Given the description of an element on the screen output the (x, y) to click on. 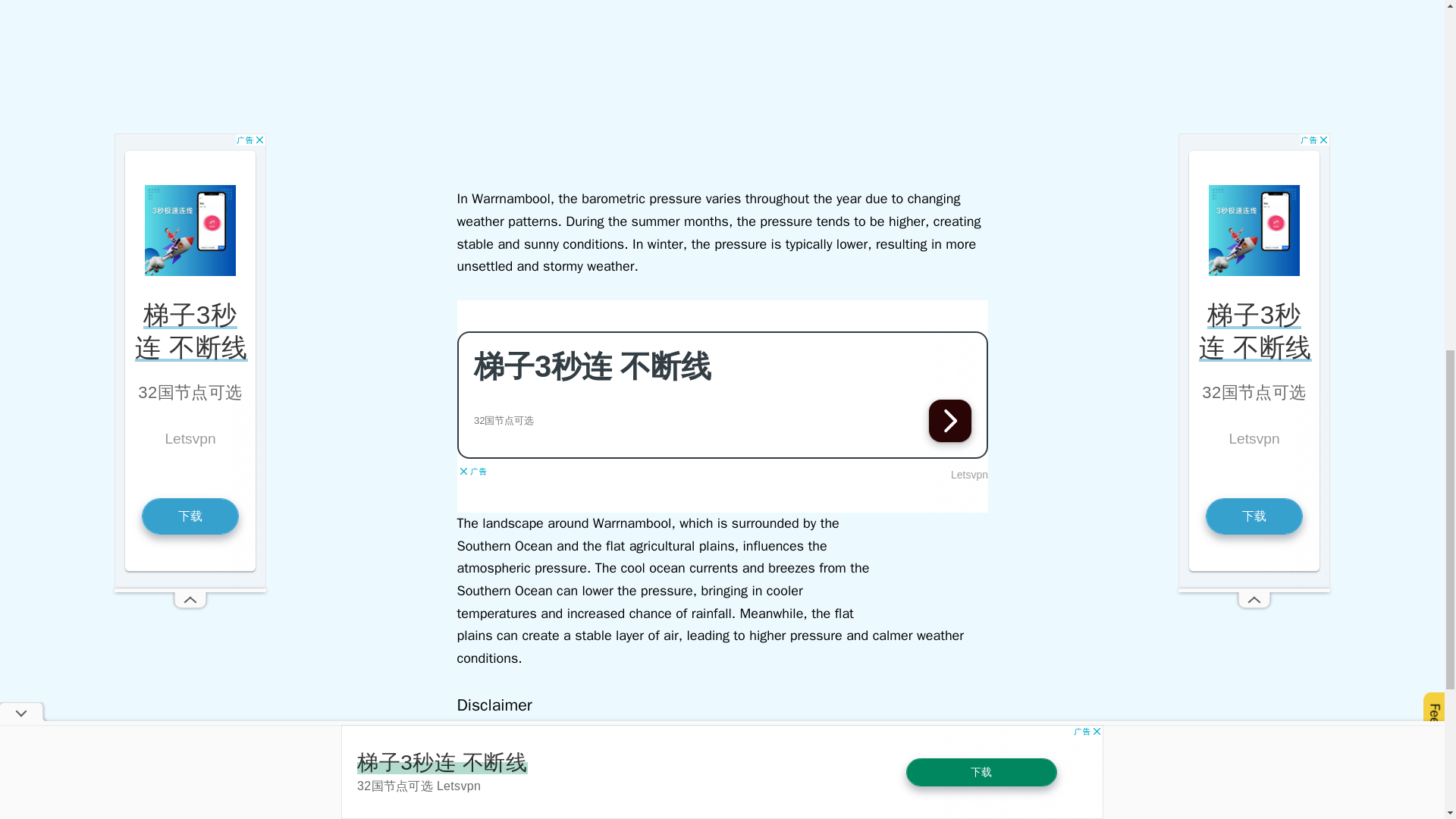
Warrnambool (182, 815)
Contact us (1411, 815)
Cities (128, 815)
Barometric Pressure (55, 815)
Advertisement (722, 406)
